Given the description of an element on the screen output the (x, y) to click on. 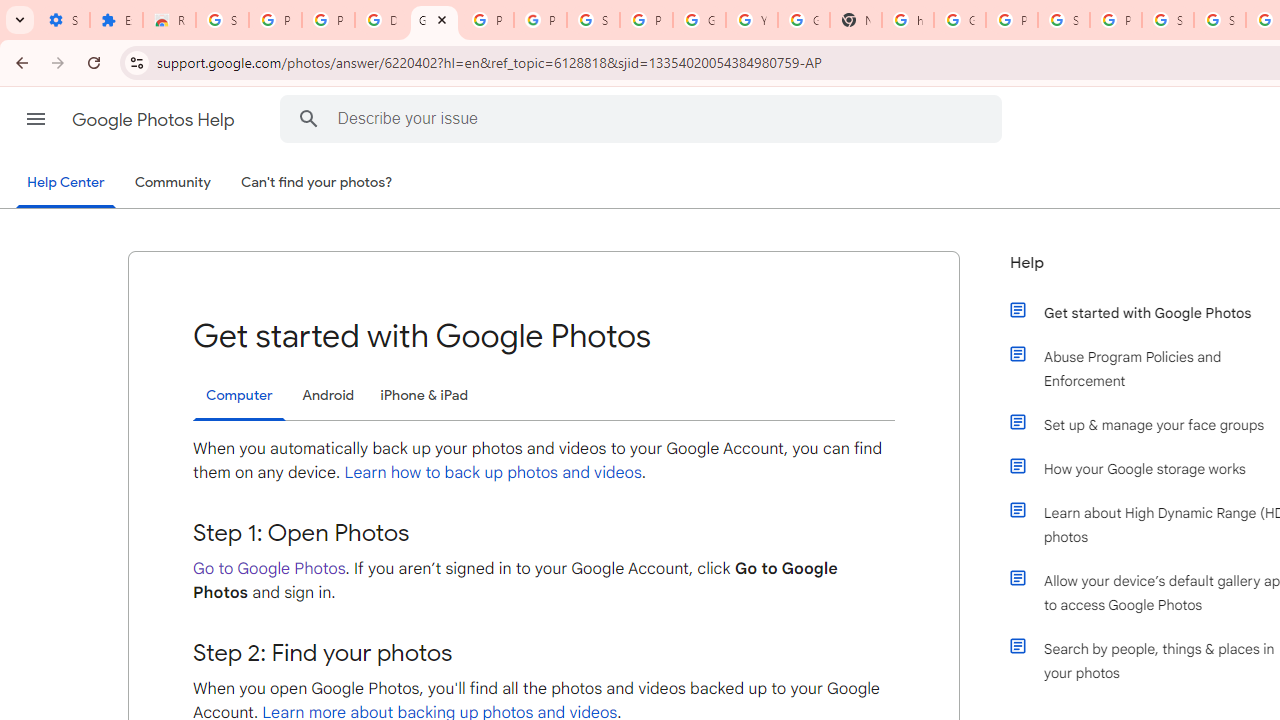
Computer (239, 396)
Google Photos Help (155, 119)
Sign in - Google Accounts (1167, 20)
Describe your issue (644, 118)
Help Center (65, 183)
Google Account (699, 20)
Sign in - Google Accounts (222, 20)
